Given the description of an element on the screen output the (x, y) to click on. 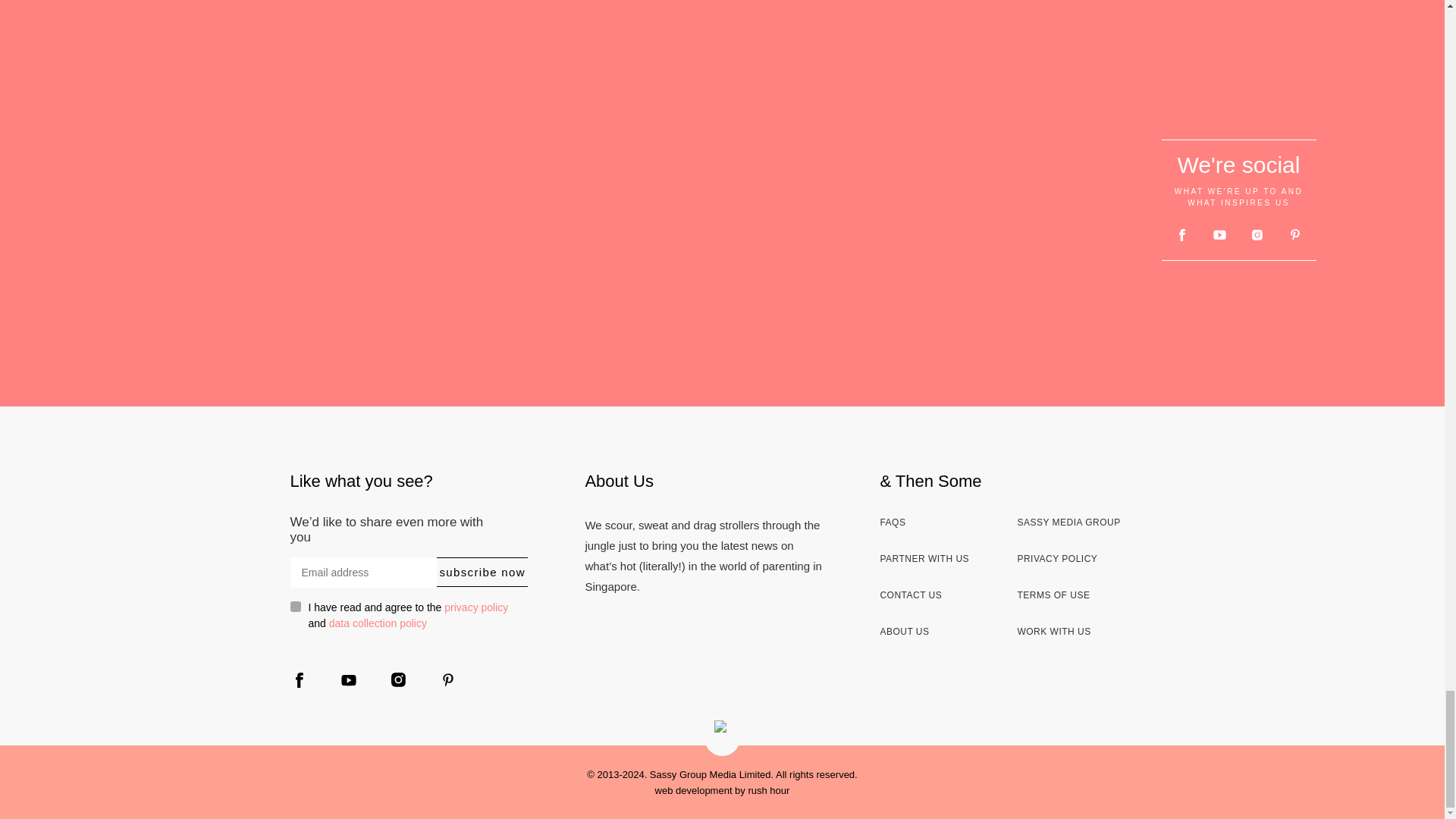
subscribe now (481, 572)
on (294, 606)
